Given the description of an element on the screen output the (x, y) to click on. 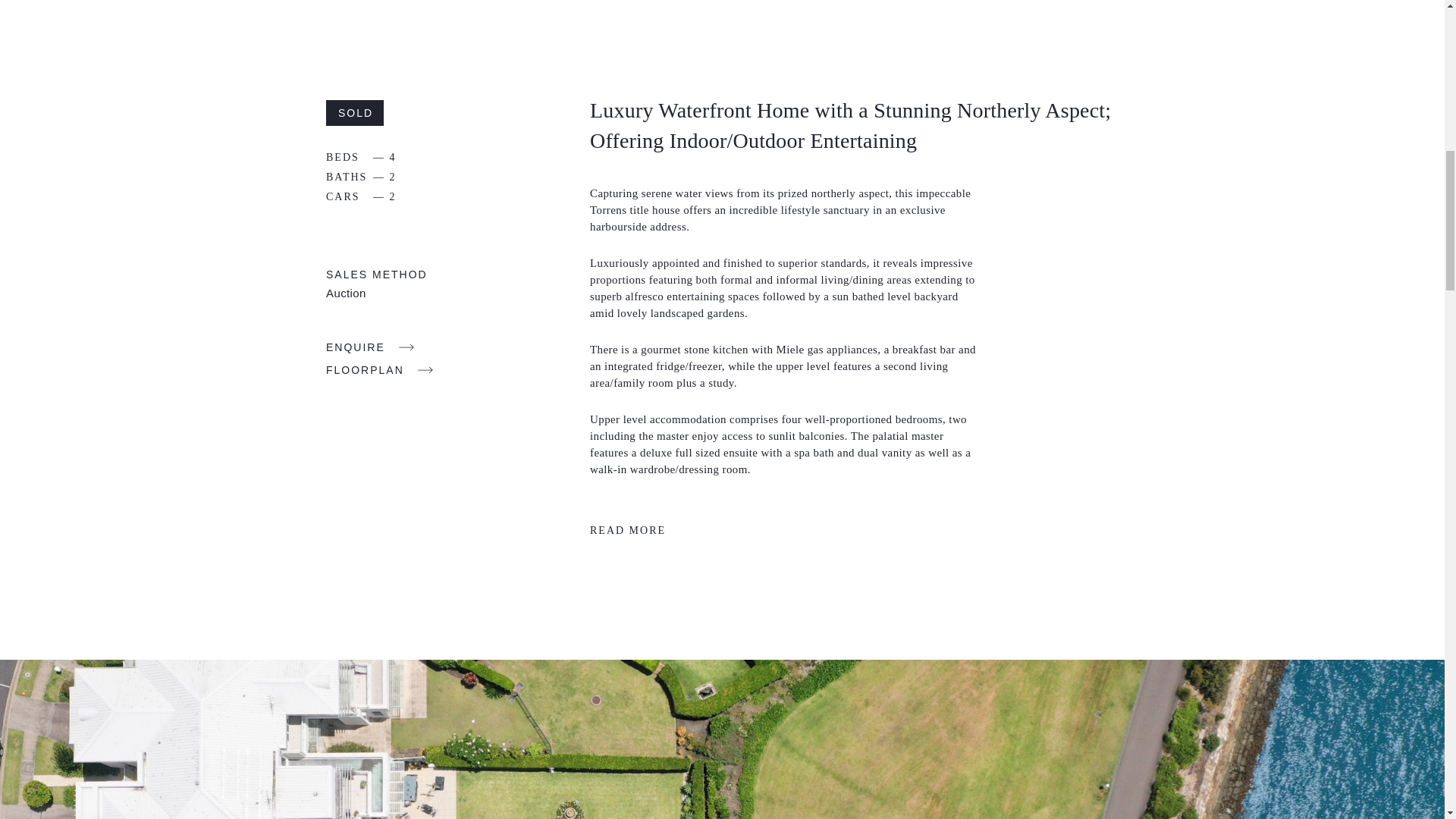
ENQUIRE (369, 347)
